Given the description of an element on the screen output the (x, y) to click on. 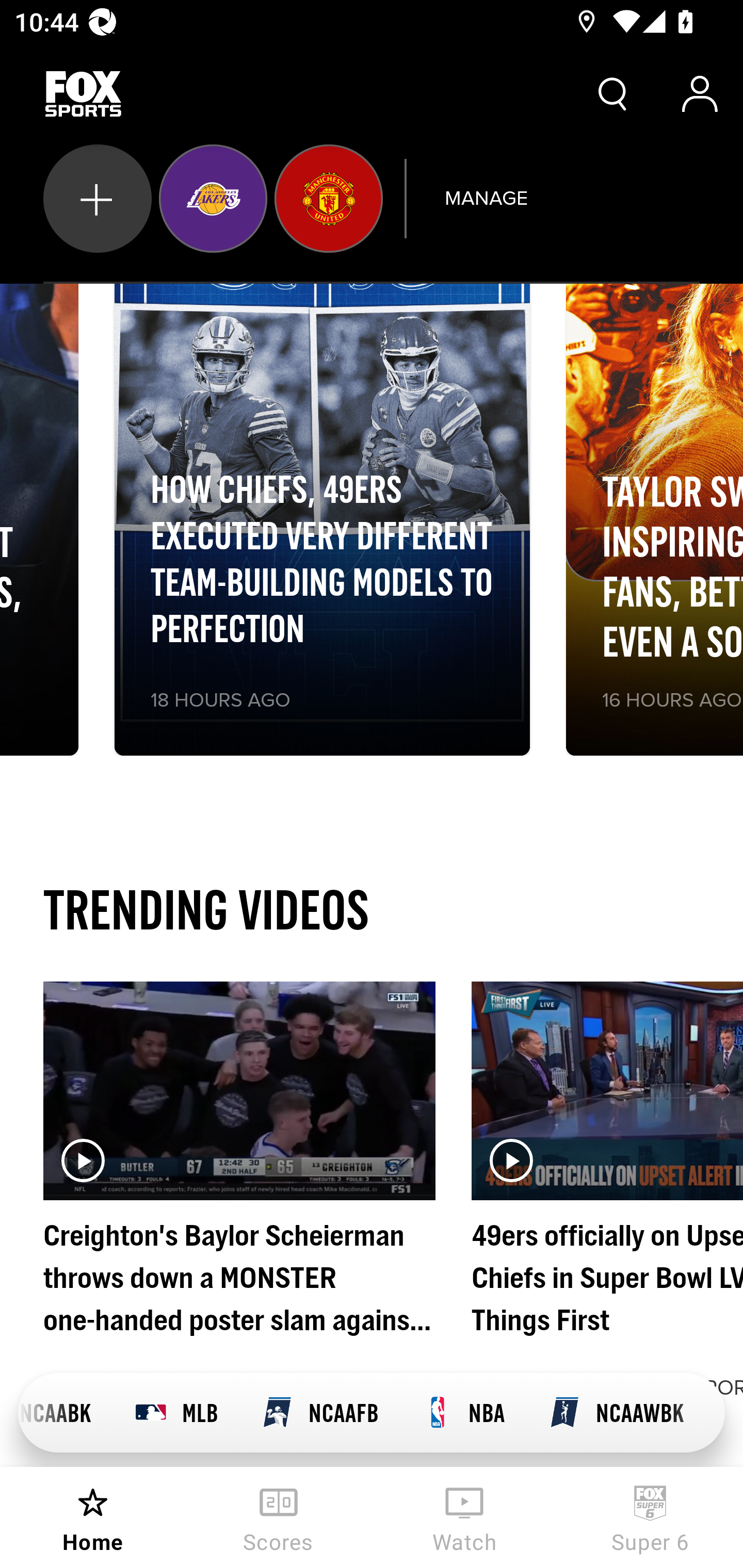
Search (612, 93)
Account (699, 93)
MANAGE (485, 198)
NCAABK (64, 1412)
MLB (175, 1412)
NCAAFB (319, 1412)
NBA (462, 1412)
NCAAWBK (615, 1412)
Scores (278, 1517)
Watch (464, 1517)
Super 6 (650, 1517)
